Given the description of an element on the screen output the (x, y) to click on. 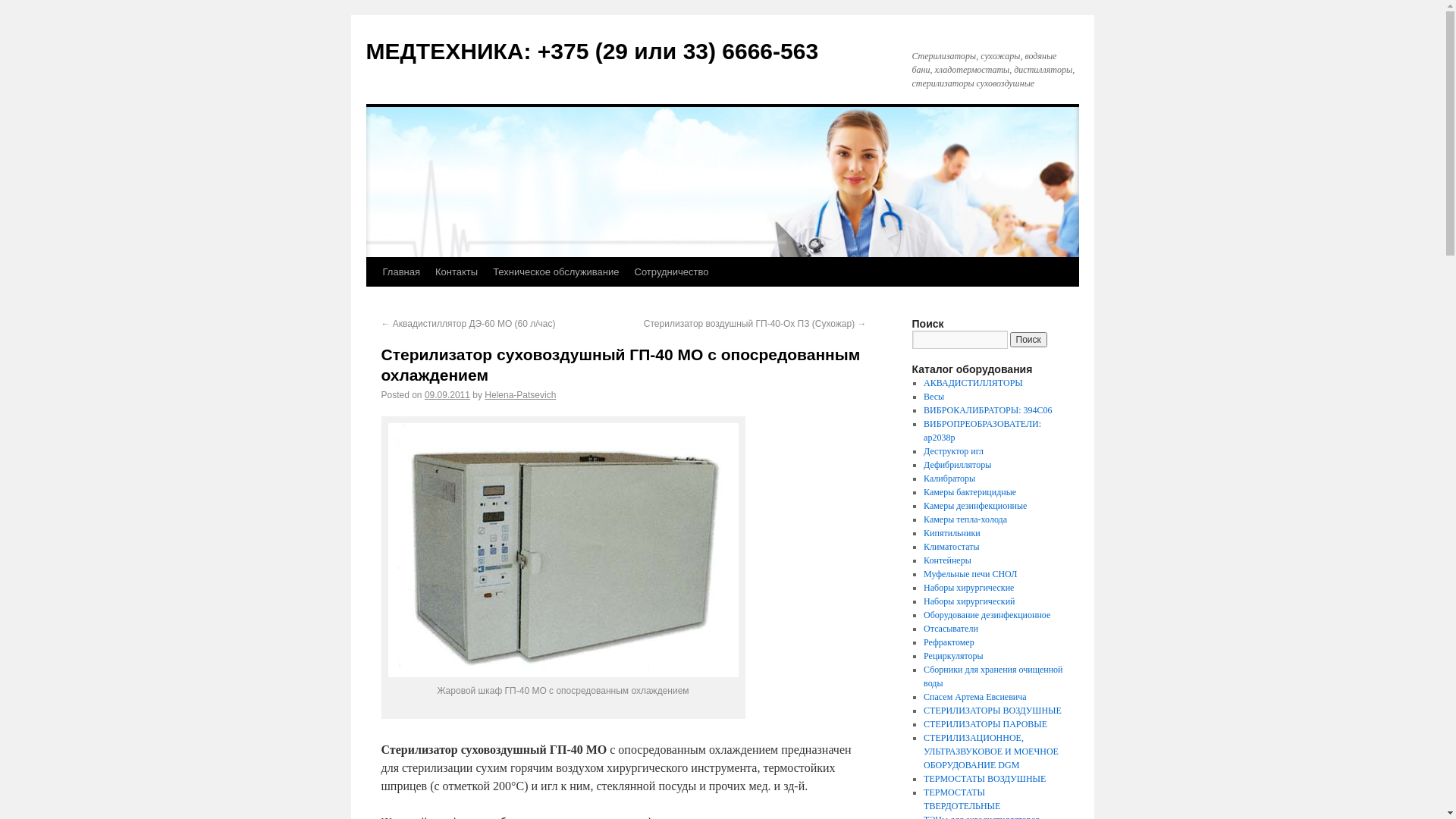
09.09.2011 Element type: text (447, 394)
Helena-Patsevich Element type: text (519, 394)
